Given the description of an element on the screen output the (x, y) to click on. 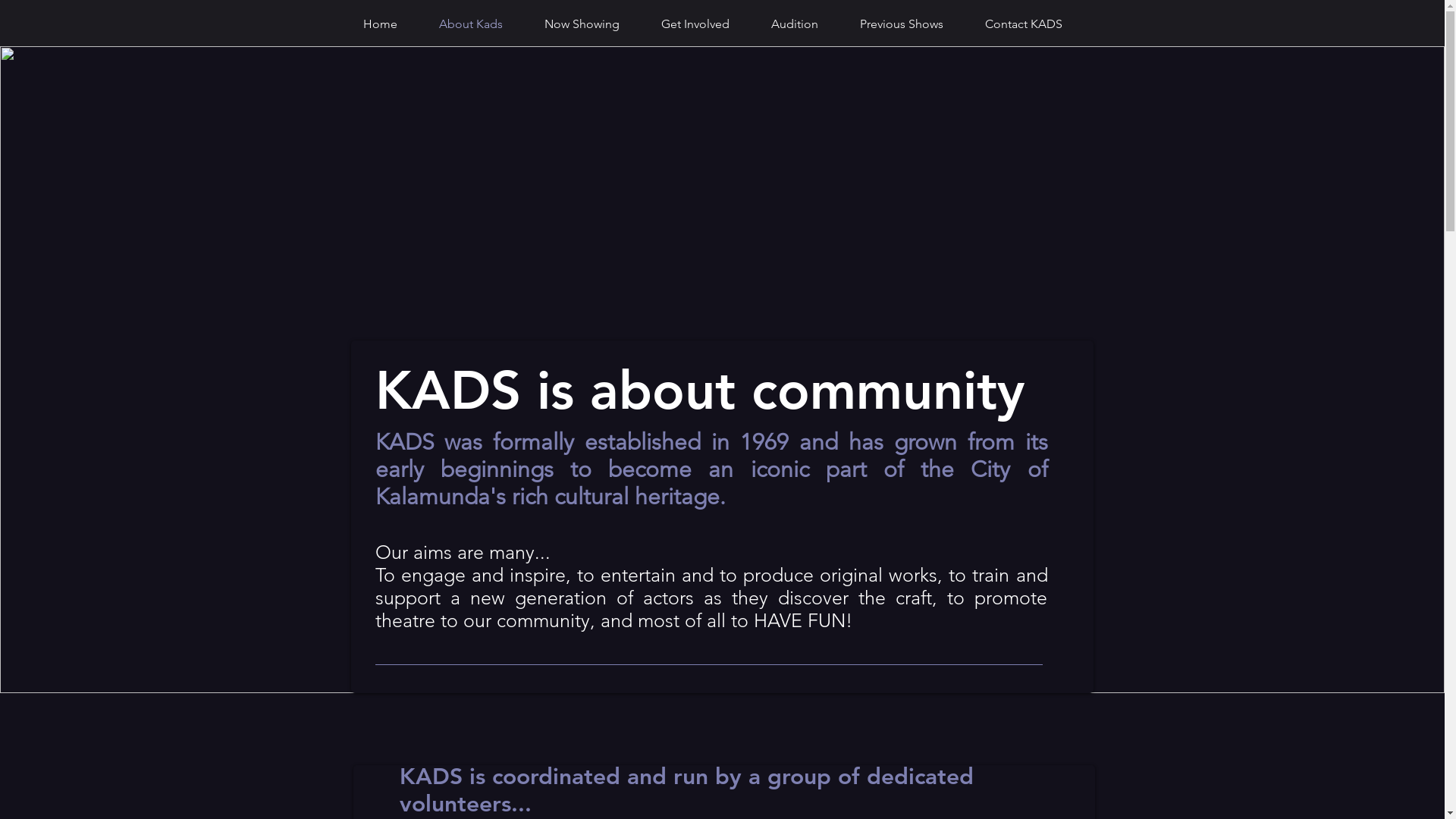
Audition Element type: text (794, 24)
Previous Shows Element type: text (900, 24)
Get Involved Element type: text (694, 24)
Home Element type: text (380, 24)
Contact KADS Element type: text (1023, 24)
About Kads Element type: text (471, 24)
Now Showing Element type: text (581, 24)
